Given the description of an element on the screen output the (x, y) to click on. 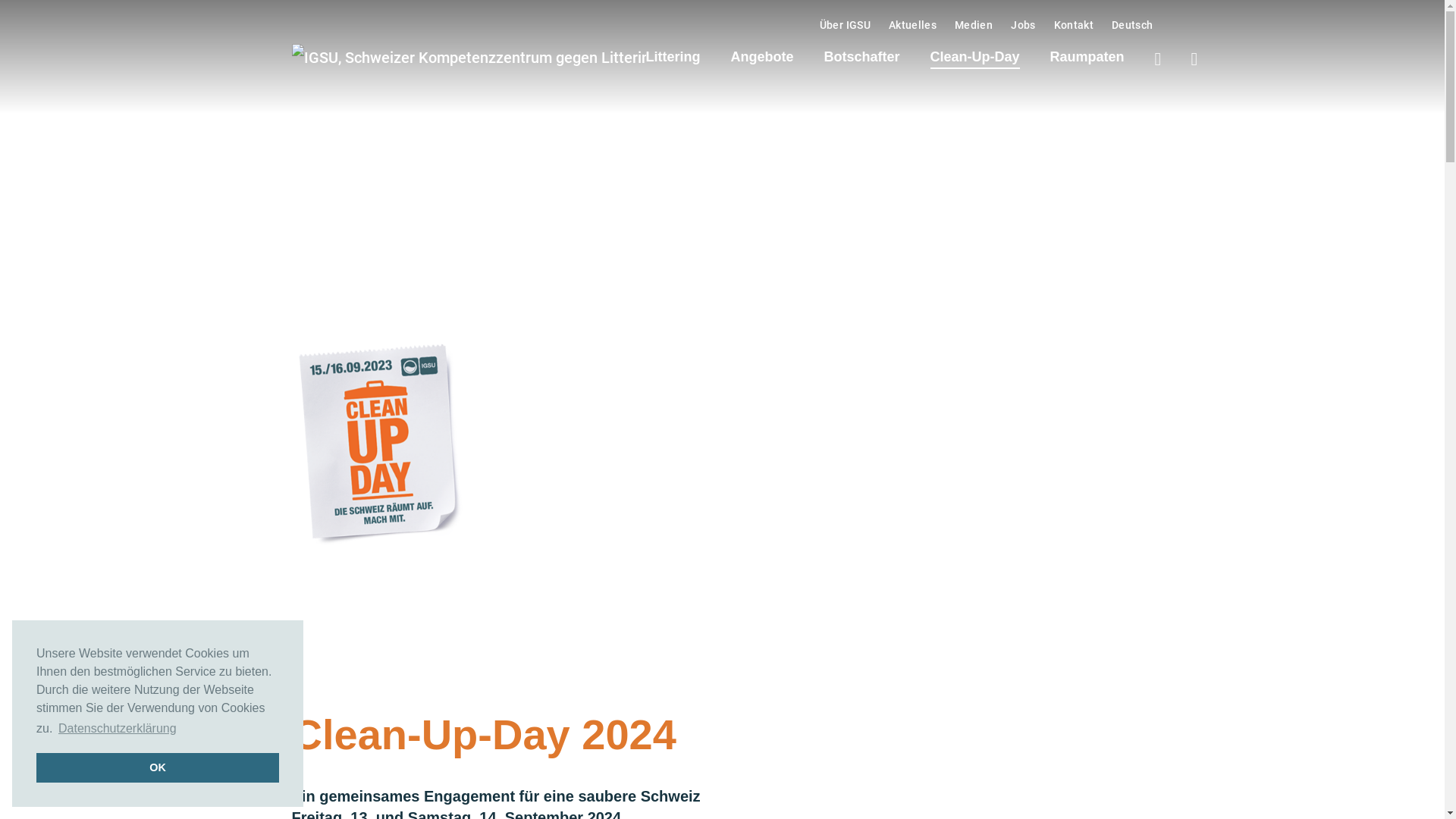
Medien Element type: text (973, 24)
Littering Element type: text (673, 56)
Raumpaten Element type: text (1087, 56)
Clean-Up-Day Element type: text (974, 56)
Angebote Element type: text (762, 56)
Aktuelles Element type: text (912, 24)
Deutsch Element type: text (1131, 24)
Jobs Element type: text (1022, 24)
Botschafter Element type: text (861, 56)
OK Element type: text (157, 767)
Kontakt Element type: text (1073, 24)
